Given the description of an element on the screen output the (x, y) to click on. 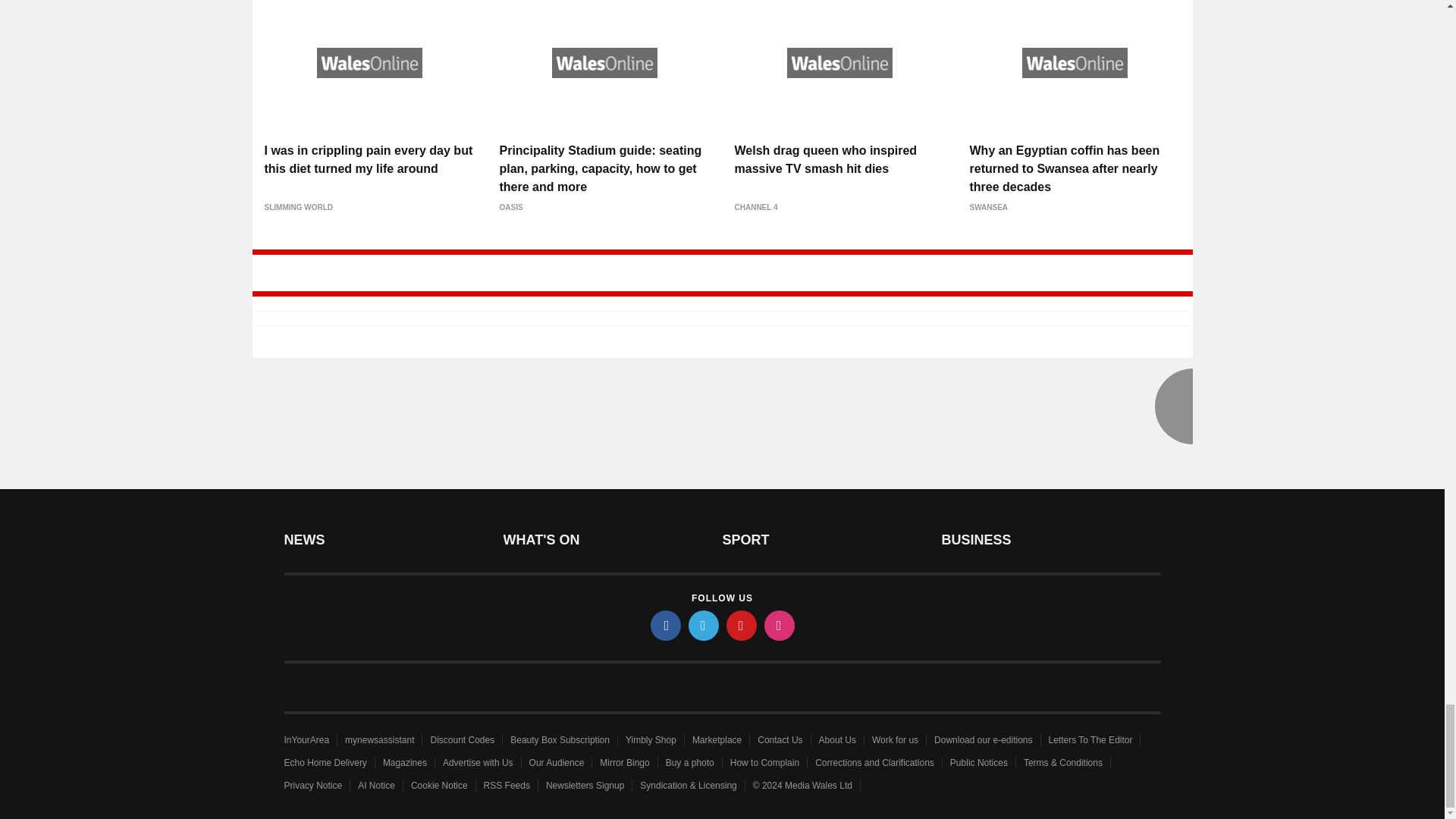
instagram (779, 625)
pinterest (741, 625)
facebook (665, 625)
twitter (703, 625)
